Given the description of an element on the screen output the (x, y) to click on. 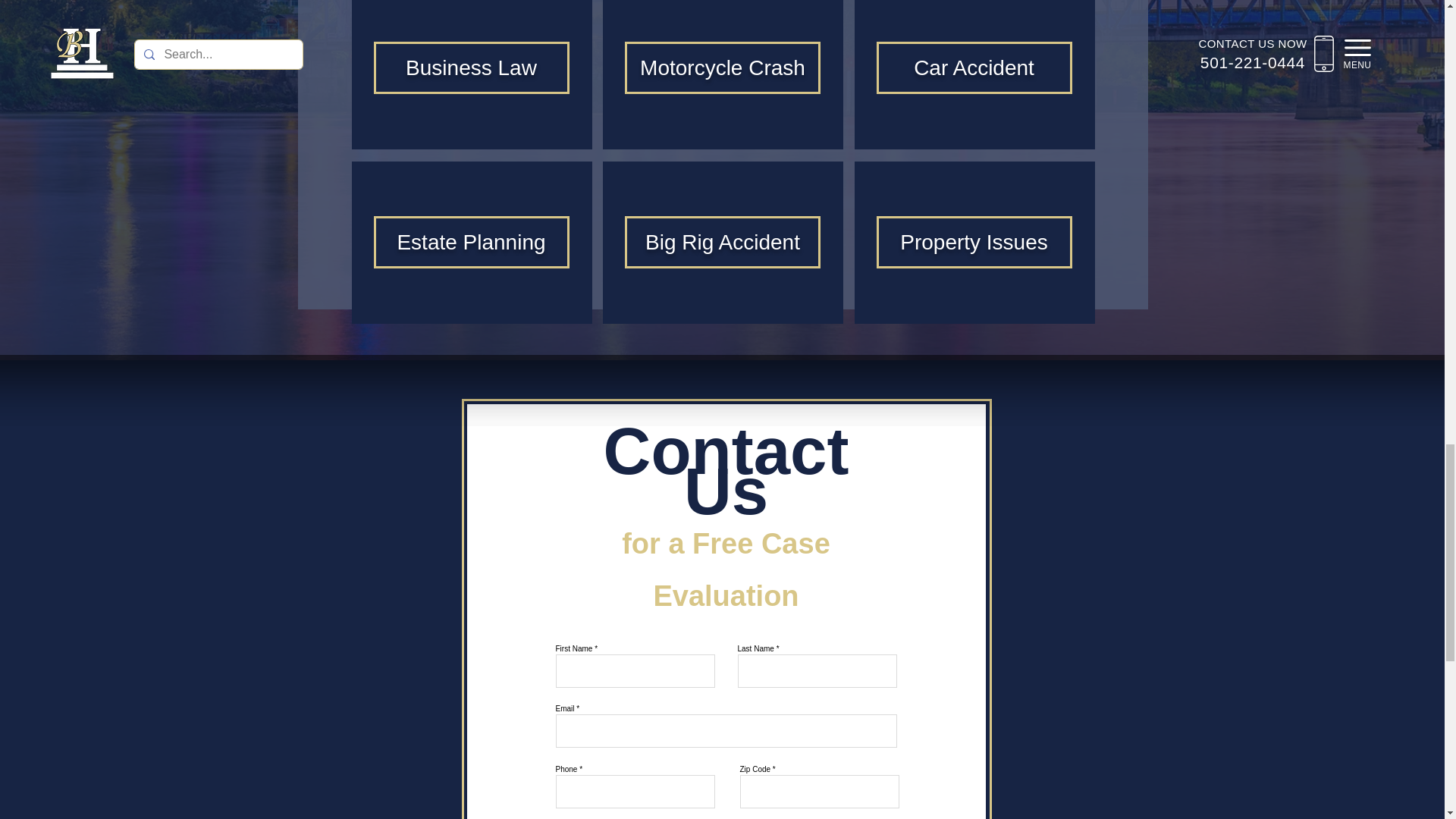
Big Rig Accident (722, 241)
Motorcycle Crash (722, 67)
Car Accident (973, 67)
Business Law (471, 67)
Estate Planning (470, 241)
Property Issues (973, 241)
